Given the description of an element on the screen output the (x, y) to click on. 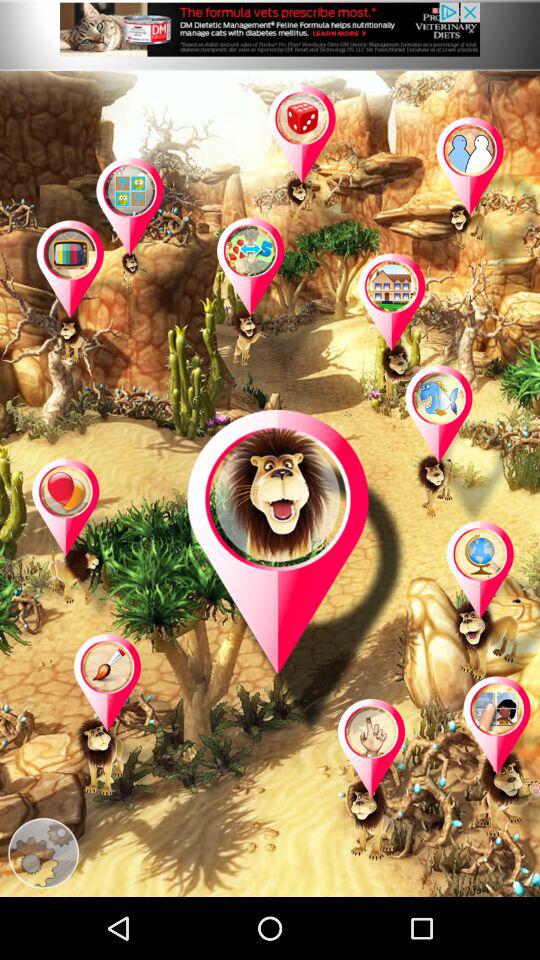
image button (150, 239)
